Given the description of an element on the screen output the (x, y) to click on. 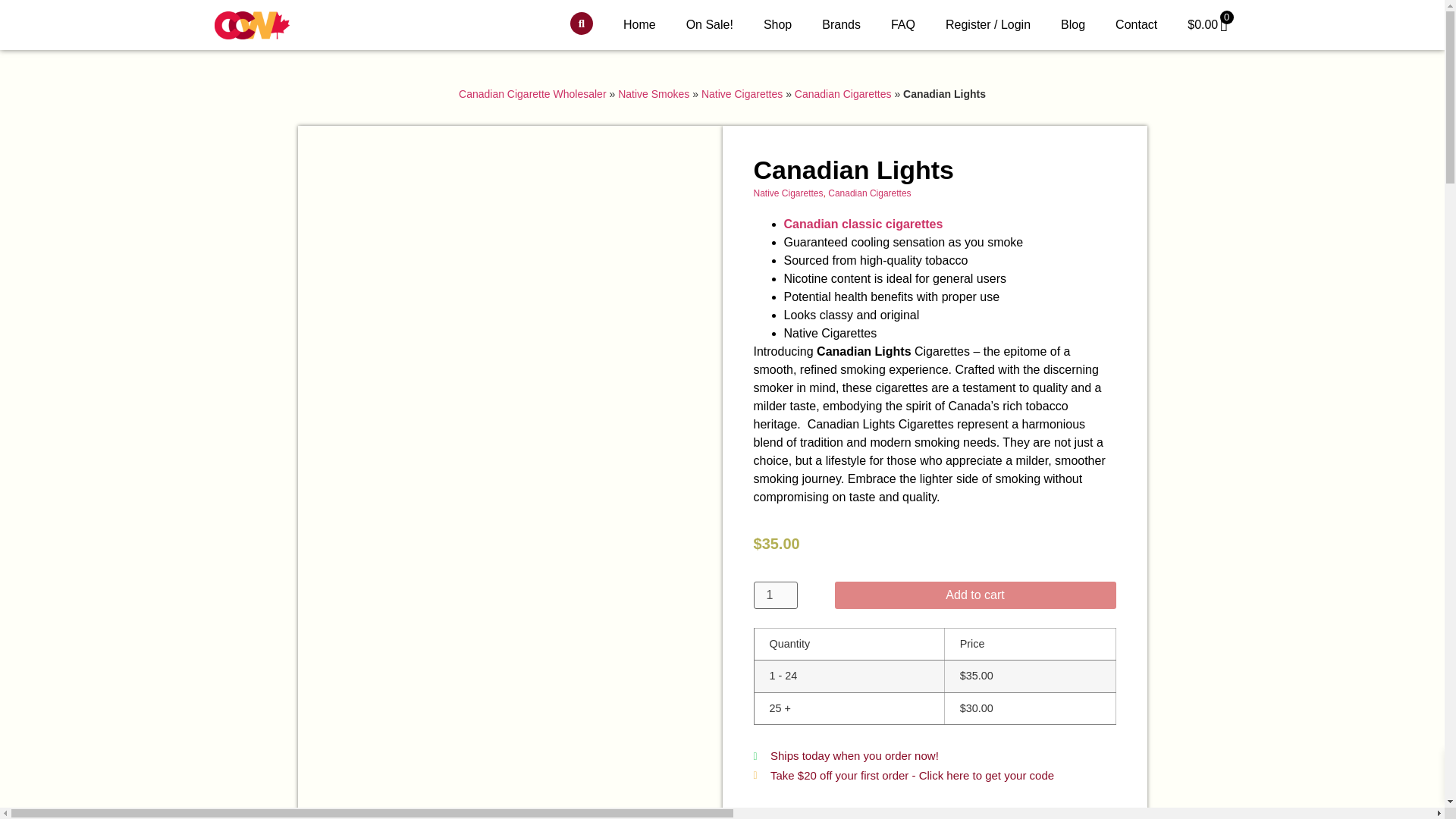
FAQ (903, 24)
Home (639, 24)
1 (775, 595)
Contact (1136, 24)
Brands (841, 24)
Shop (777, 24)
On Sale! (709, 24)
Blog (1072, 24)
